Given the description of an element on the screen output the (x, y) to click on. 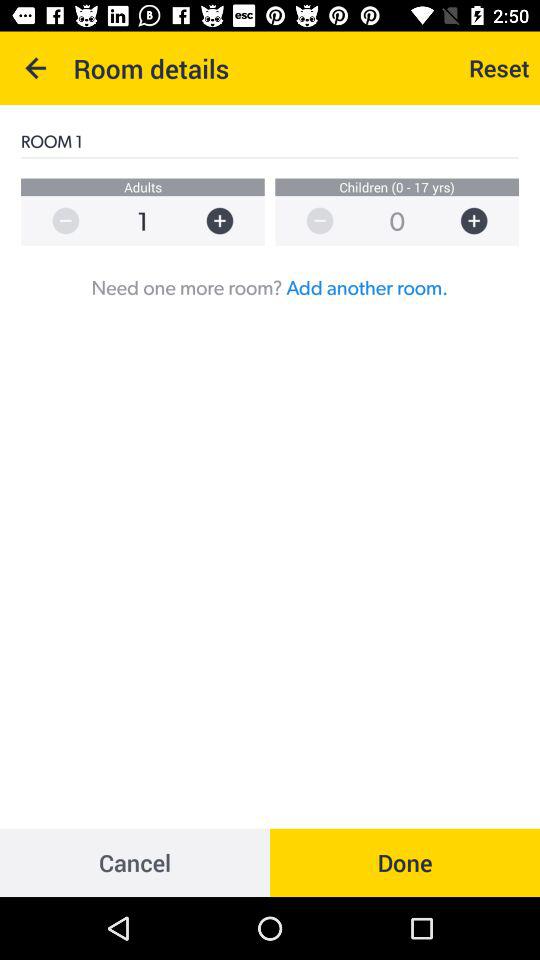
negate value (310, 220)
